Given the description of an element on the screen output the (x, y) to click on. 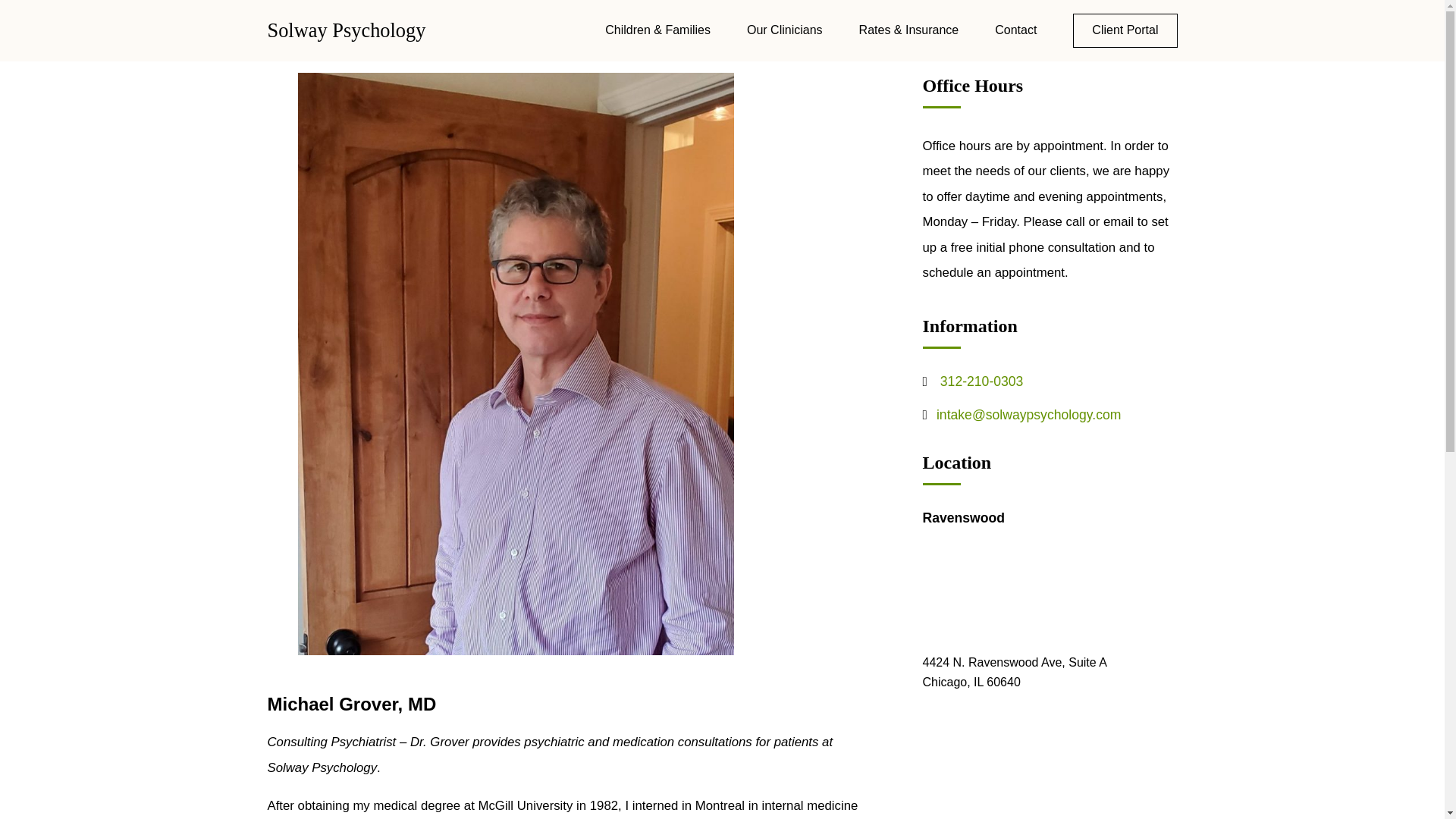
Client Portal (1124, 29)
Contact (1015, 29)
Our Clinicians (784, 29)
Solway Psychology (345, 29)
312-210-0303 (981, 381)
